Given the description of an element on the screen output the (x, y) to click on. 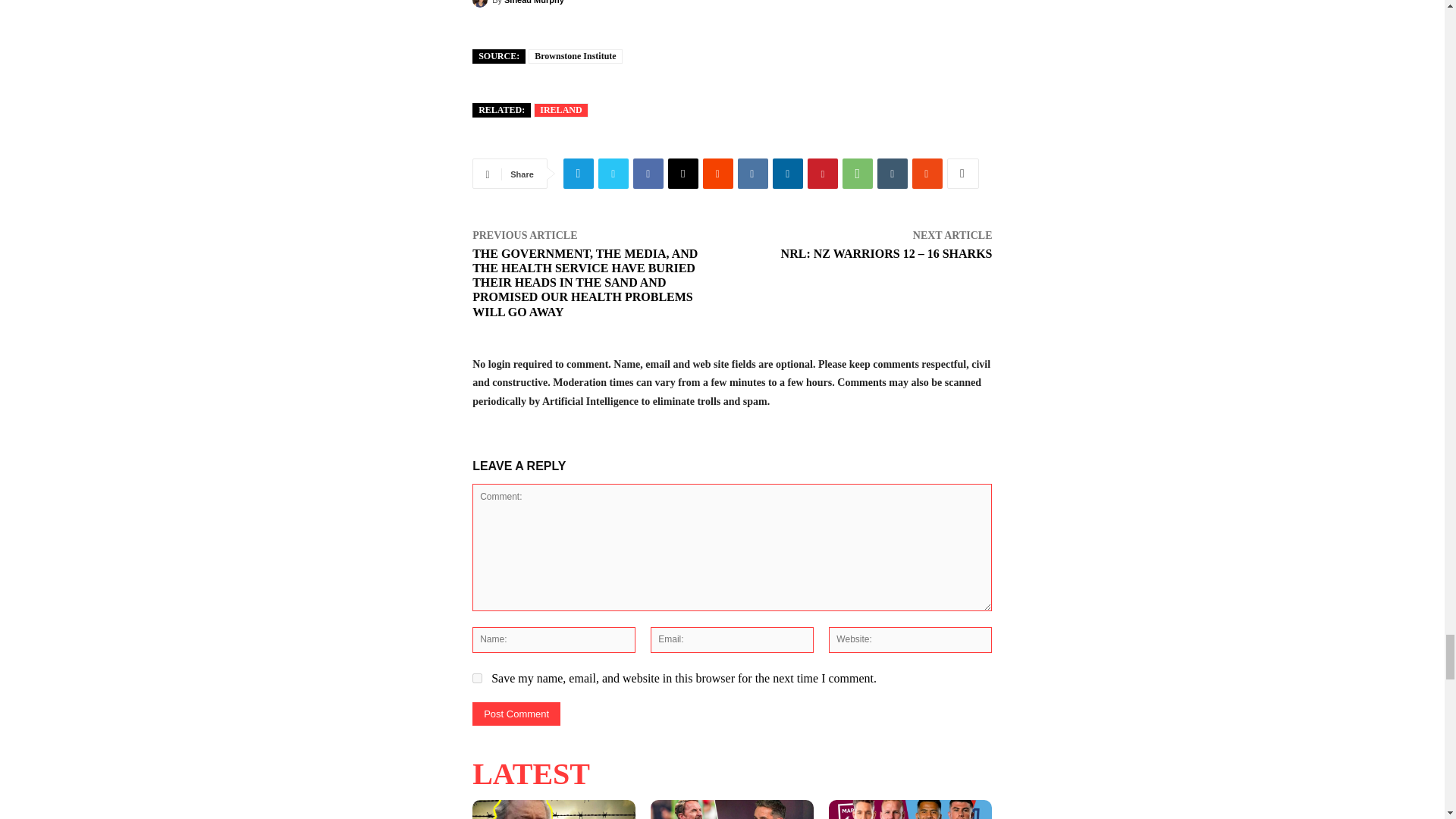
Post Comment (515, 713)
yes (476, 678)
